Given the description of an element on the screen output the (x, y) to click on. 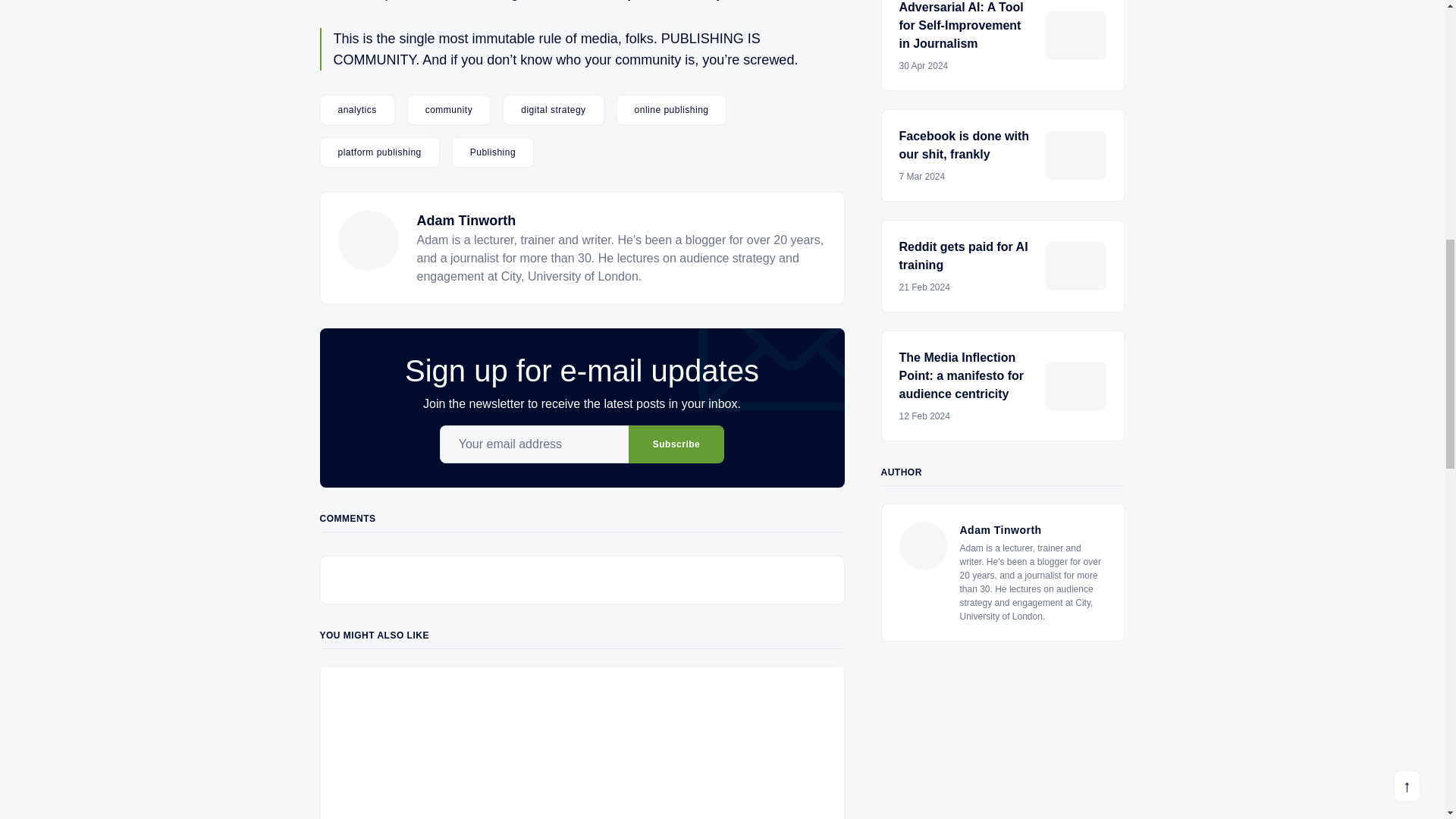
platform publishing (379, 152)
Publishing (492, 152)
online publishing (670, 110)
community (449, 110)
analytics (357, 110)
Subscribe (676, 444)
digital strategy (553, 110)
Adam Tinworth (466, 220)
